Given the description of an element on the screen output the (x, y) to click on. 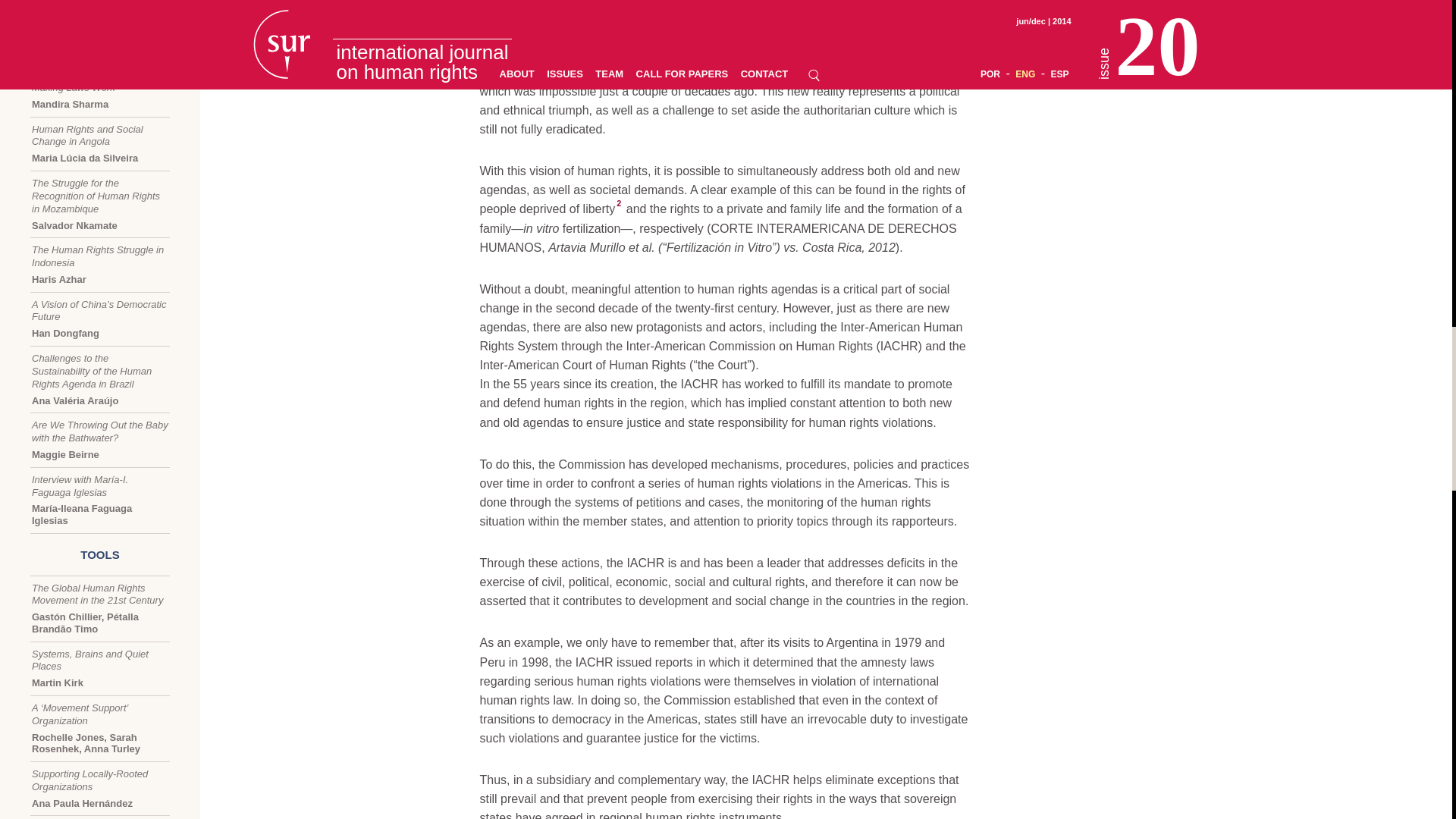
Human Rights and Social Change in Angola (100, 143)
Making Laws Work (100, 95)
Human Rights Litigation in Southern Africa (100, 95)
